Given the description of an element on the screen output the (x, y) to click on. 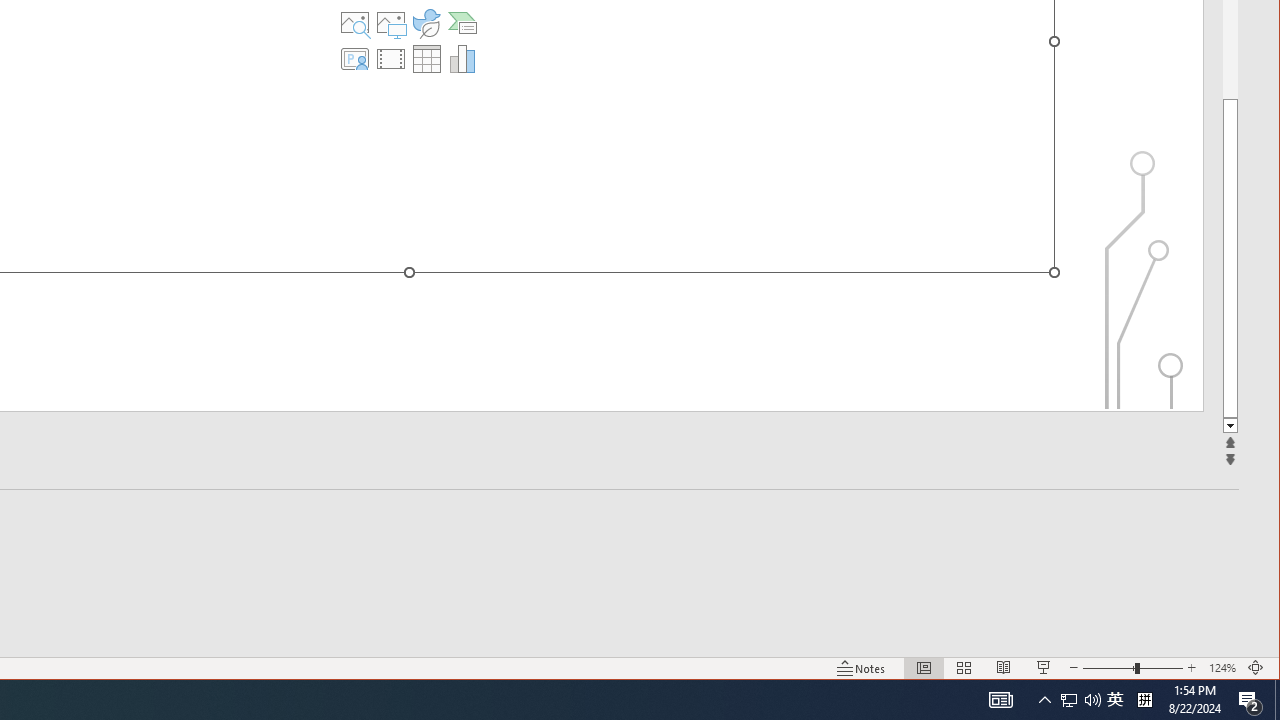
Stock Images (355, 22)
Insert a SmartArt Graphic (462, 22)
Zoom 124% (1222, 668)
Insert an Icon (426, 22)
